Given the description of an element on the screen output the (x, y) to click on. 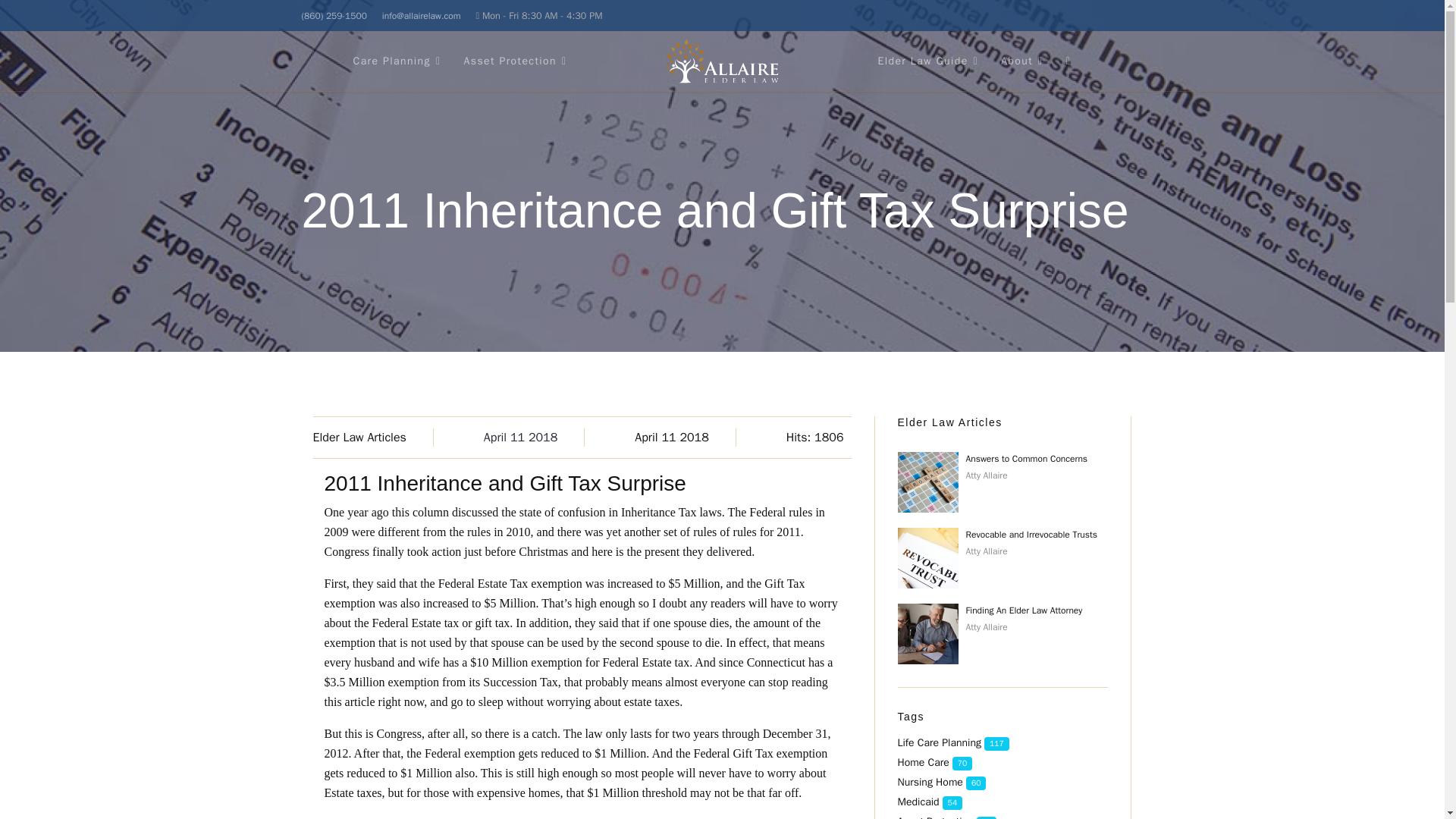
Care Planning (397, 61)
Published: April 11 2018 (534, 437)
Elder Law Articles (359, 437)
Asset Protection (514, 61)
About (1022, 61)
Created: April 11 2018 (685, 437)
Category: Elder Law Articles (372, 437)
Elder Law Guide (928, 61)
